Given the description of an element on the screen output the (x, y) to click on. 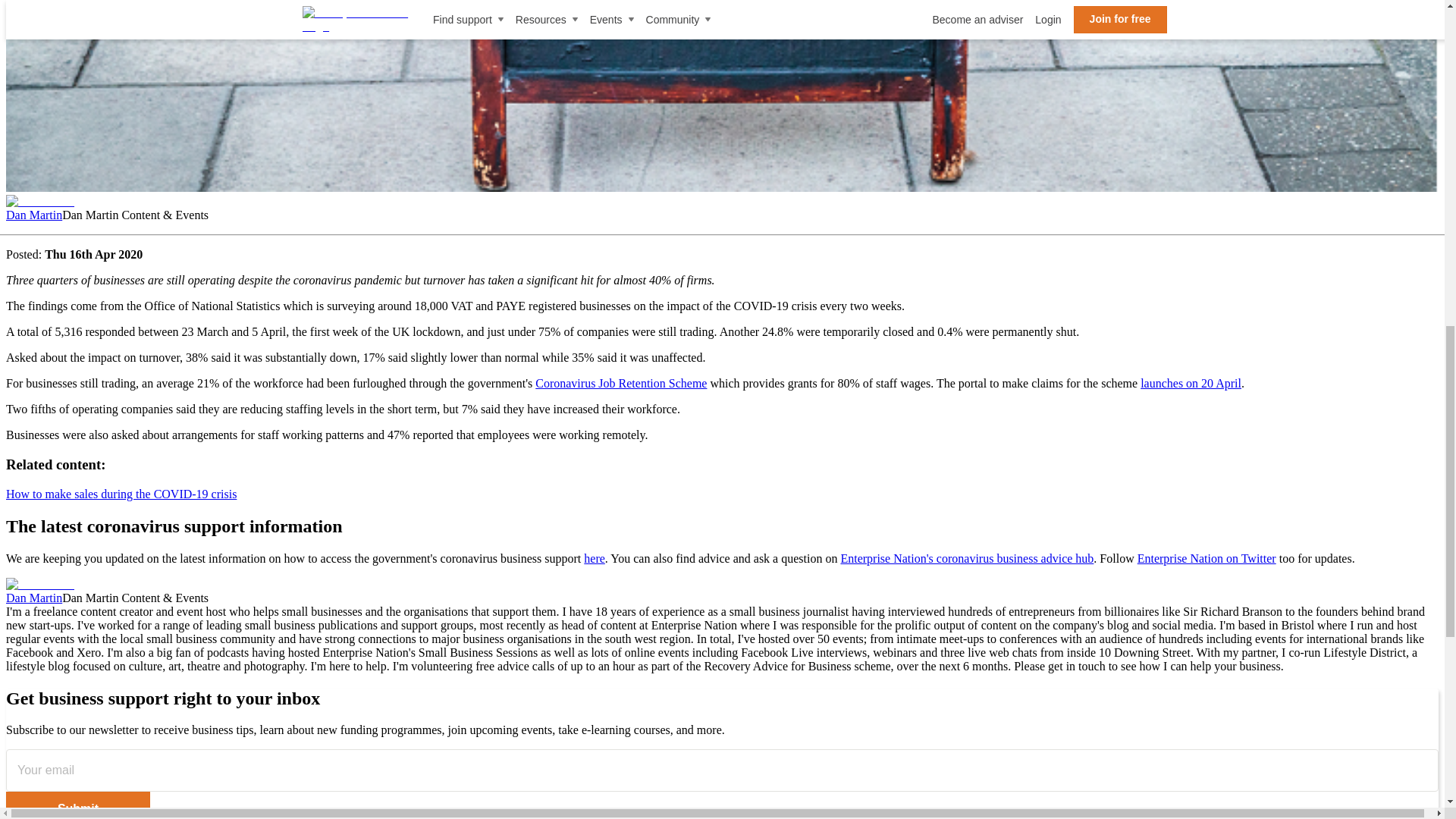
here (594, 558)
Dan Martin (39, 584)
launches on 20 April (1190, 382)
How to make sales during the COVID-19 crisis (120, 493)
Enterprise Nation's coronavirus business advice hub (966, 558)
Submit (77, 805)
Dan Martin (33, 214)
Dan Martin (39, 201)
Dan Martin (33, 597)
Enterprise Nation on Twitter (1206, 558)
Coronavirus Job Retention Scheme (620, 382)
